Given the description of an element on the screen output the (x, y) to click on. 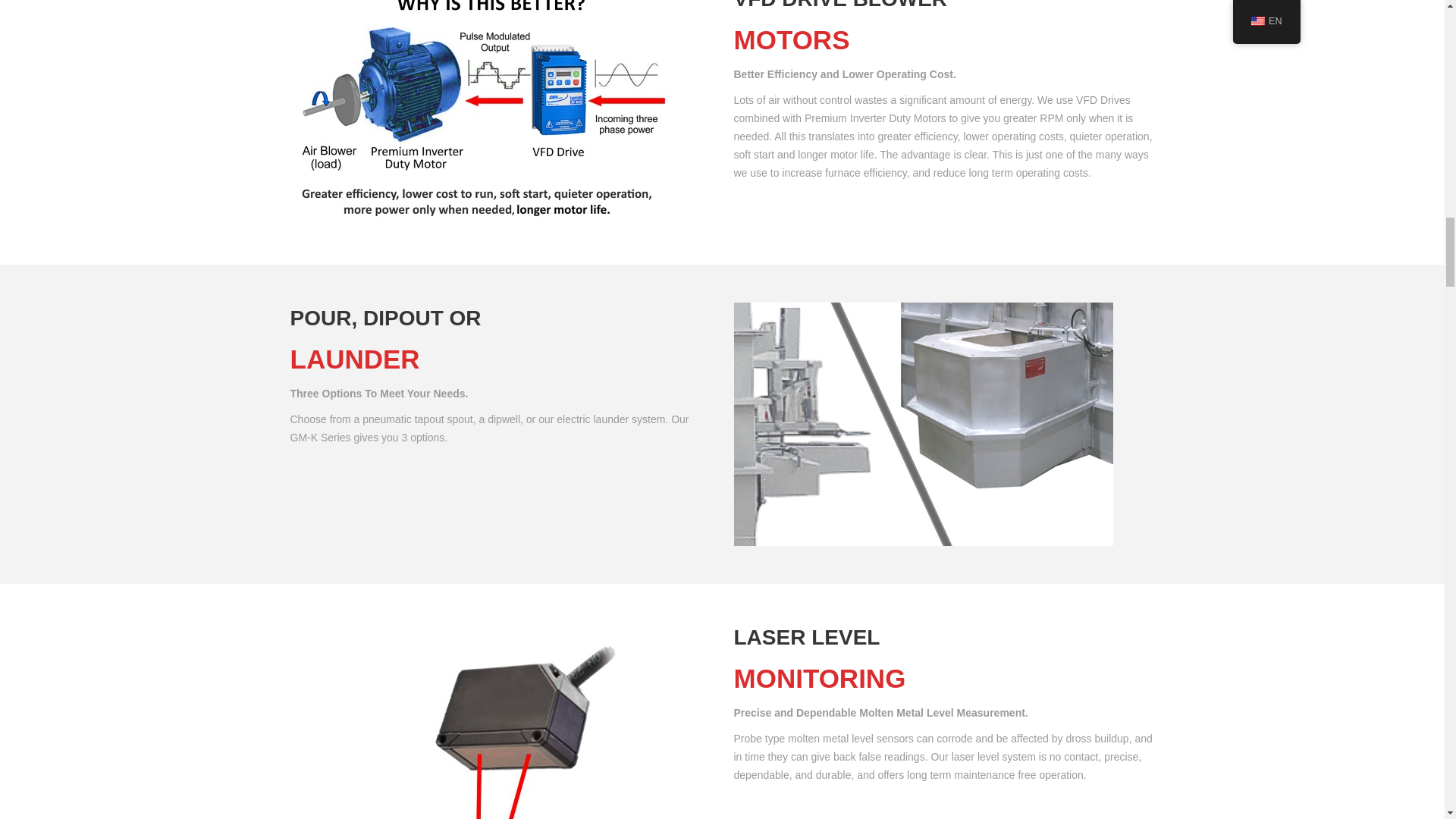
VFD Drive Inverter Duty Motors (480, 113)
Laser Level (478, 720)
Melting Furnace Tapout Dipout Options (923, 424)
